Given the description of an element on the screen output the (x, y) to click on. 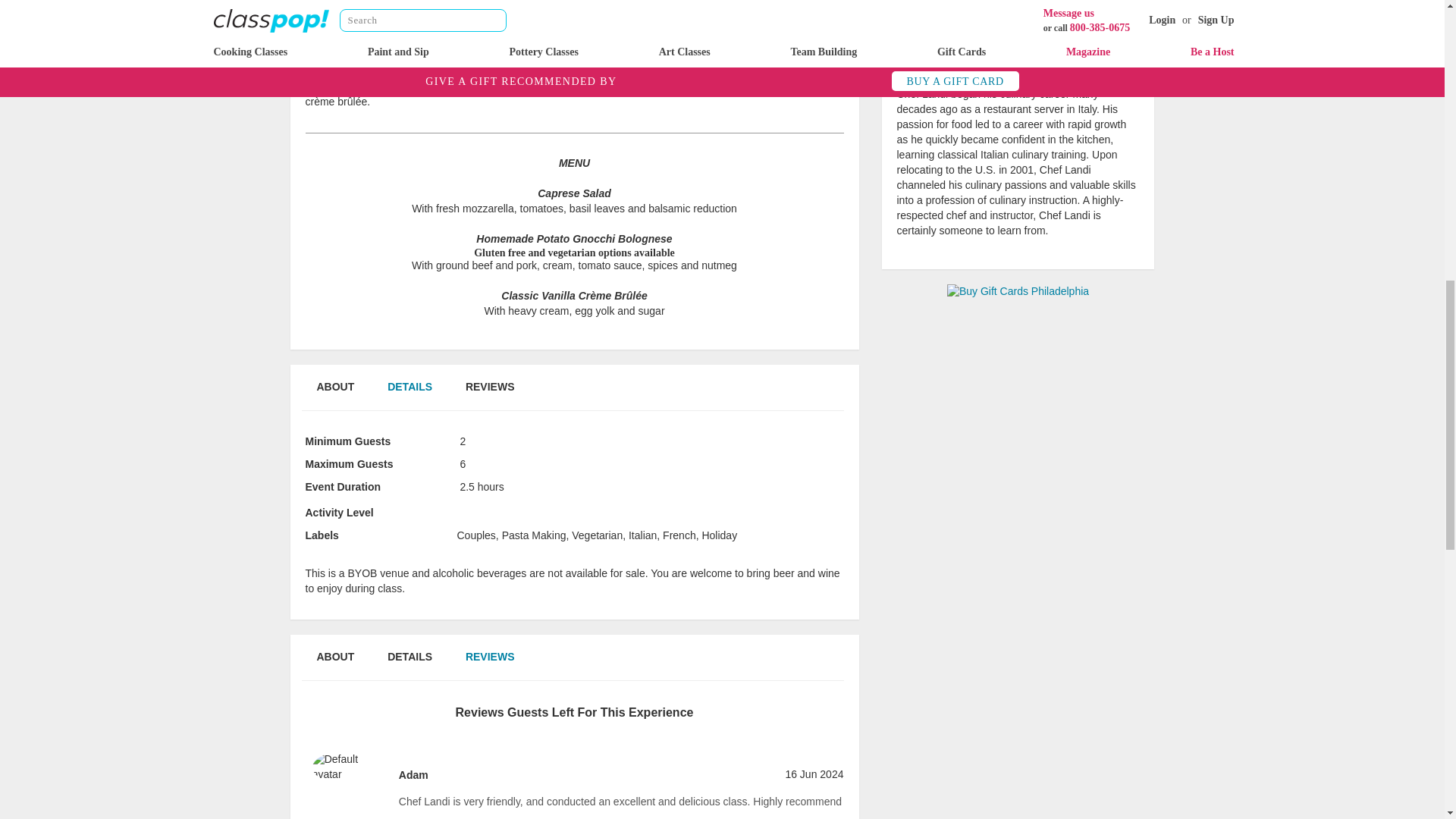
DETAILS (409, 665)
REVIEWS (489, 665)
REVIEWS (489, 395)
A mix of chef demonstration and hands-on cooking (499, 513)
DETAILS (409, 395)
ABOUT (334, 395)
ABOUT (334, 665)
38 reviews (1017, 49)
